Given the description of an element on the screen output the (x, y) to click on. 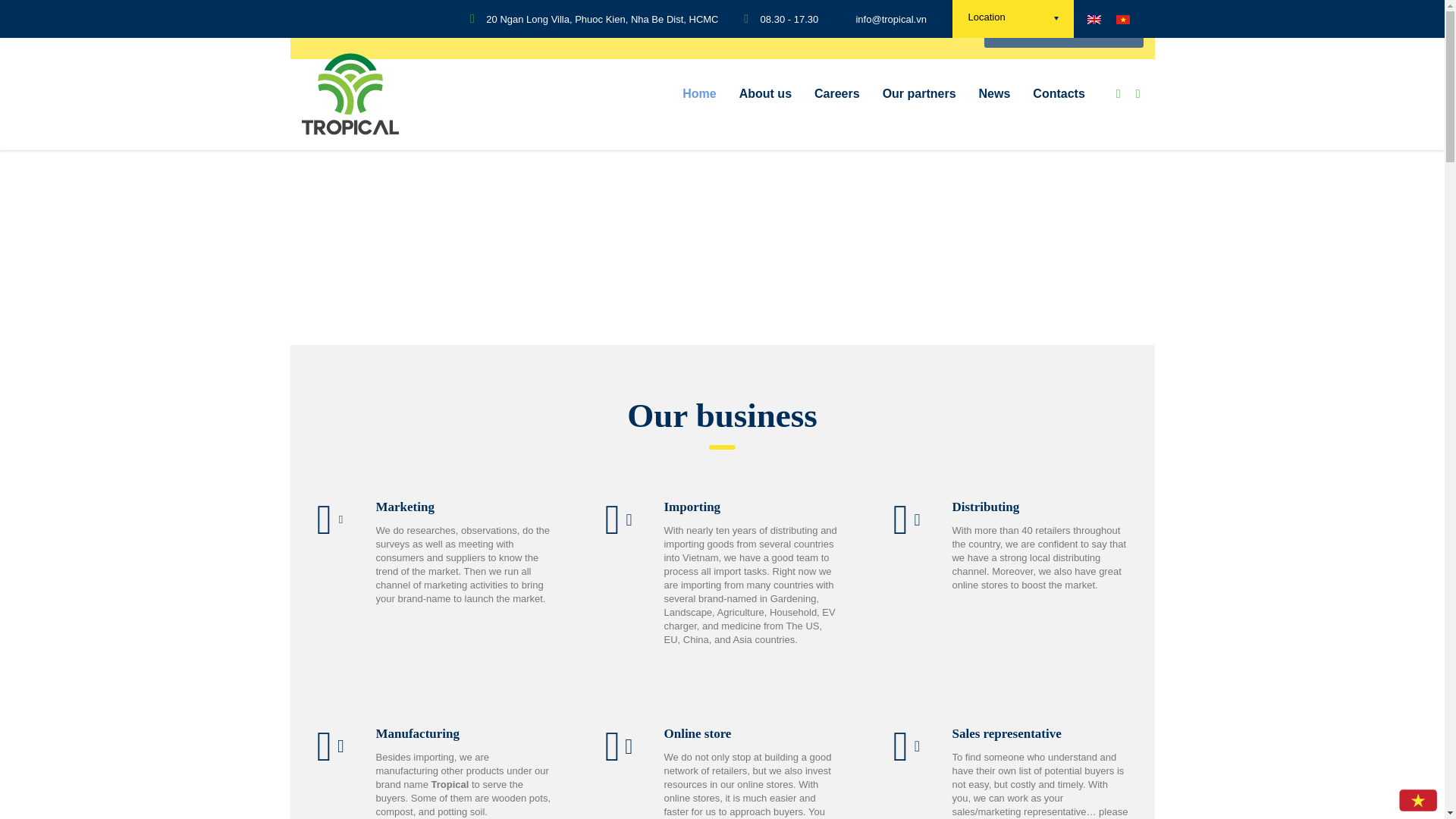
Visit our online store (368, 30)
Gardening equipment store. (1063, 30)
About us (765, 94)
Careers (836, 94)
News (995, 94)
Gardening tools store (1063, 30)
Home (698, 94)
Our partners (919, 94)
Gardening equipment online store. (368, 30)
Contacts (1059, 94)
